Given the description of an element on the screen output the (x, y) to click on. 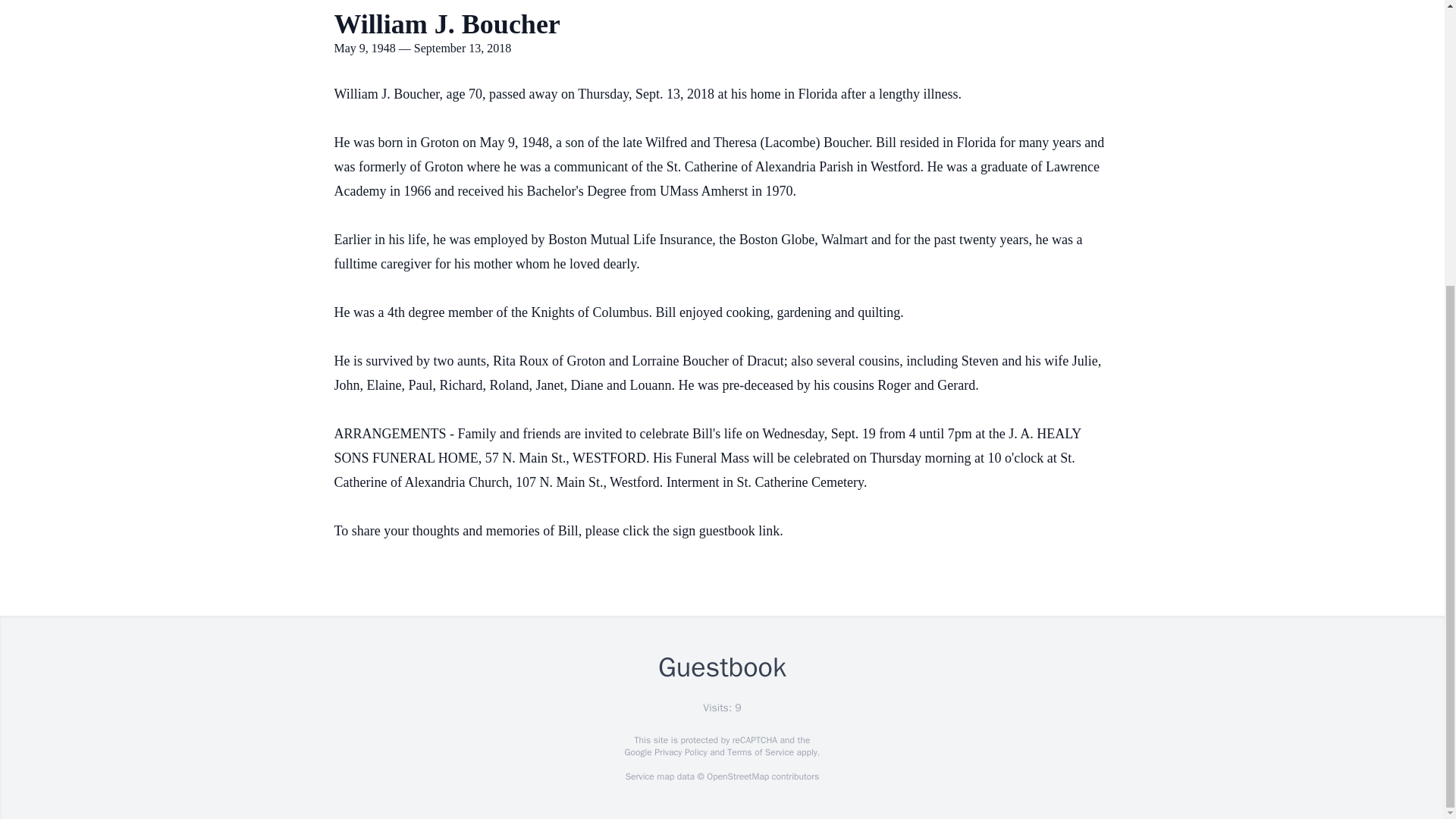
OpenStreetMap (737, 776)
Privacy Policy (679, 752)
Terms of Service (759, 752)
